Given the description of an element on the screen output the (x, y) to click on. 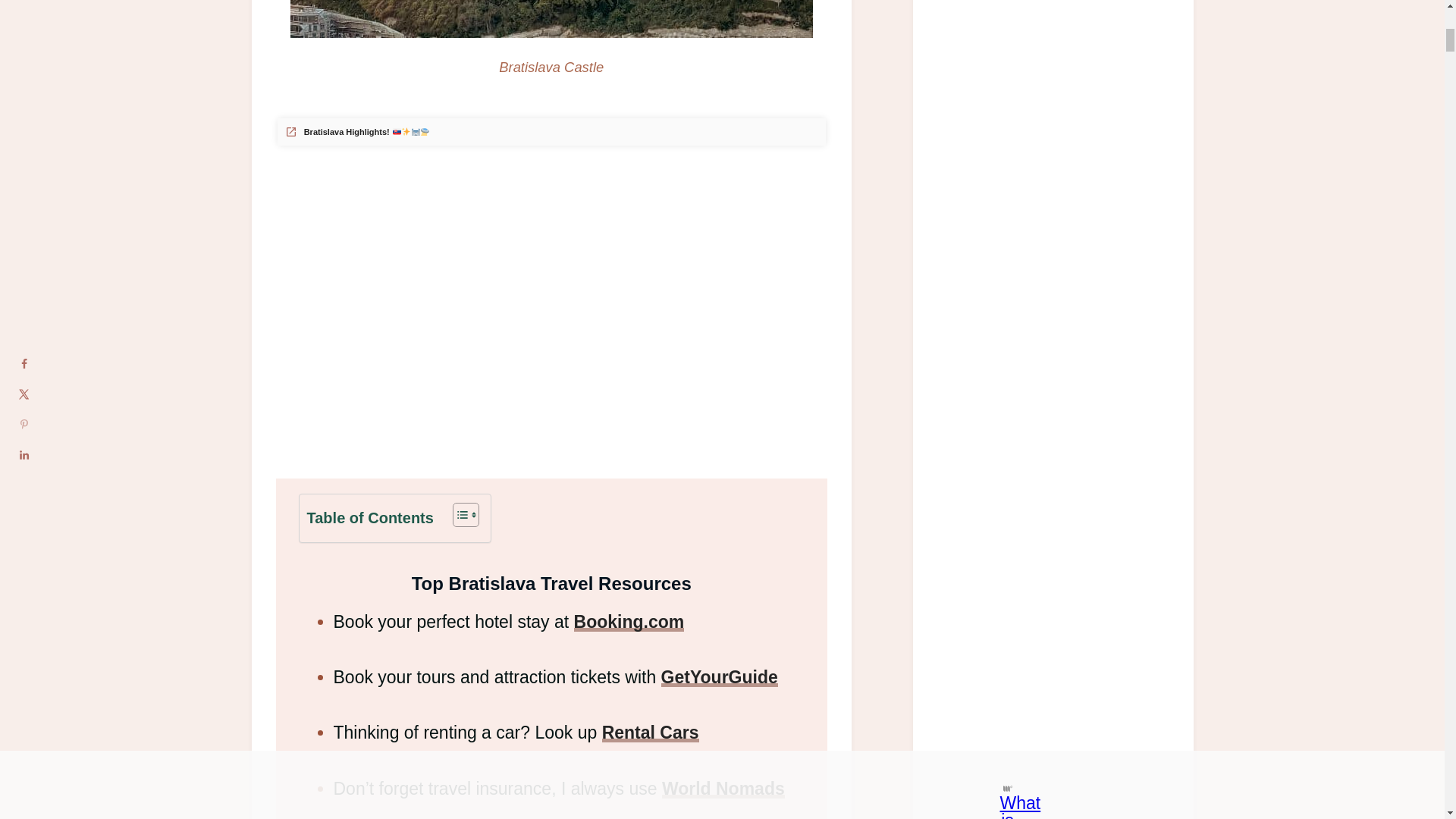
  Bratislava Highlights! (357, 131)
